Given the description of an element on the screen output the (x, y) to click on. 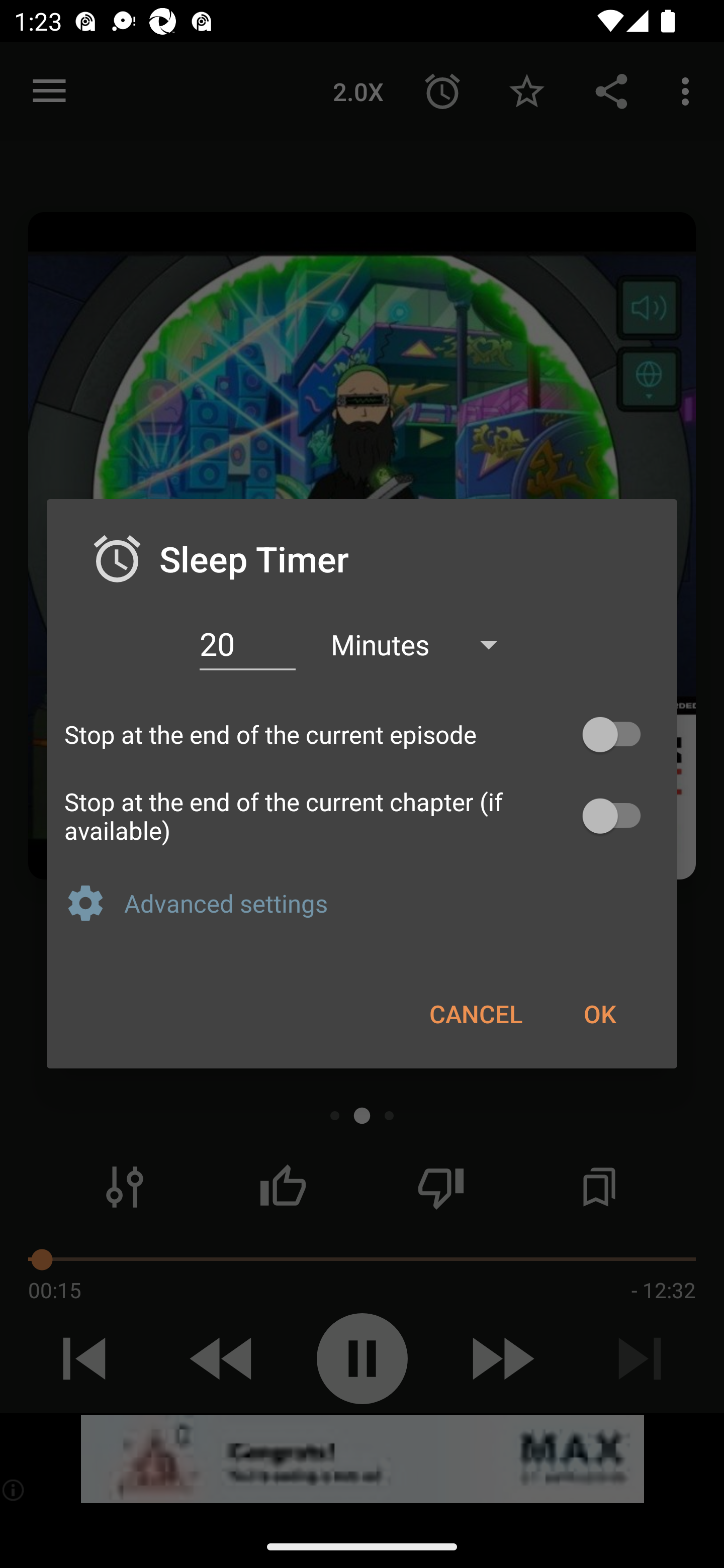
20 (247, 644)
Minutes (423, 643)
Stop at the end of the current episode (361, 734)
Advanced settings (391, 902)
CANCEL (475, 1013)
OK (599, 1013)
